Given the description of an element on the screen output the (x, y) to click on. 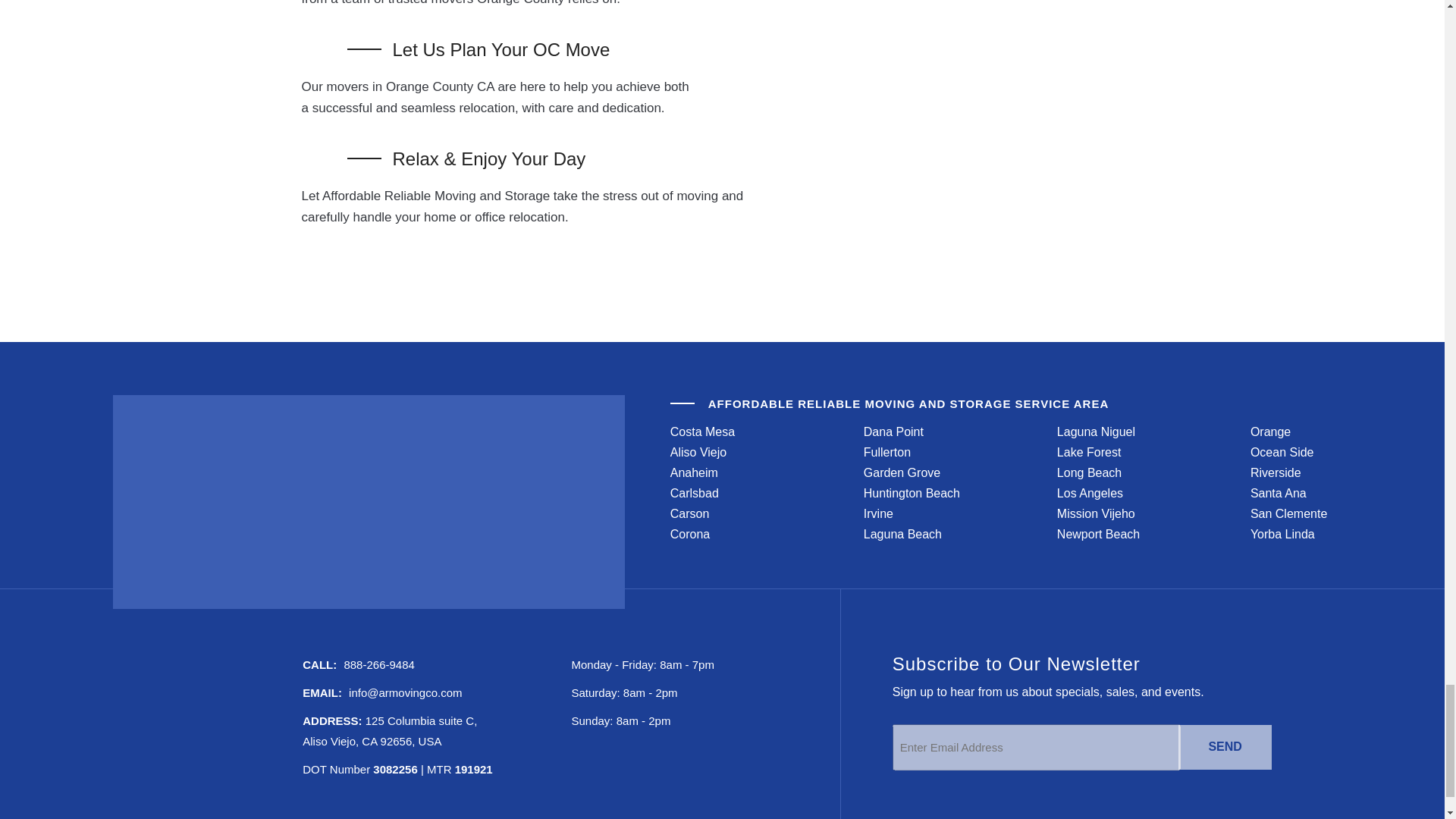
SEND (1224, 746)
